Given the description of an element on the screen output the (x, y) to click on. 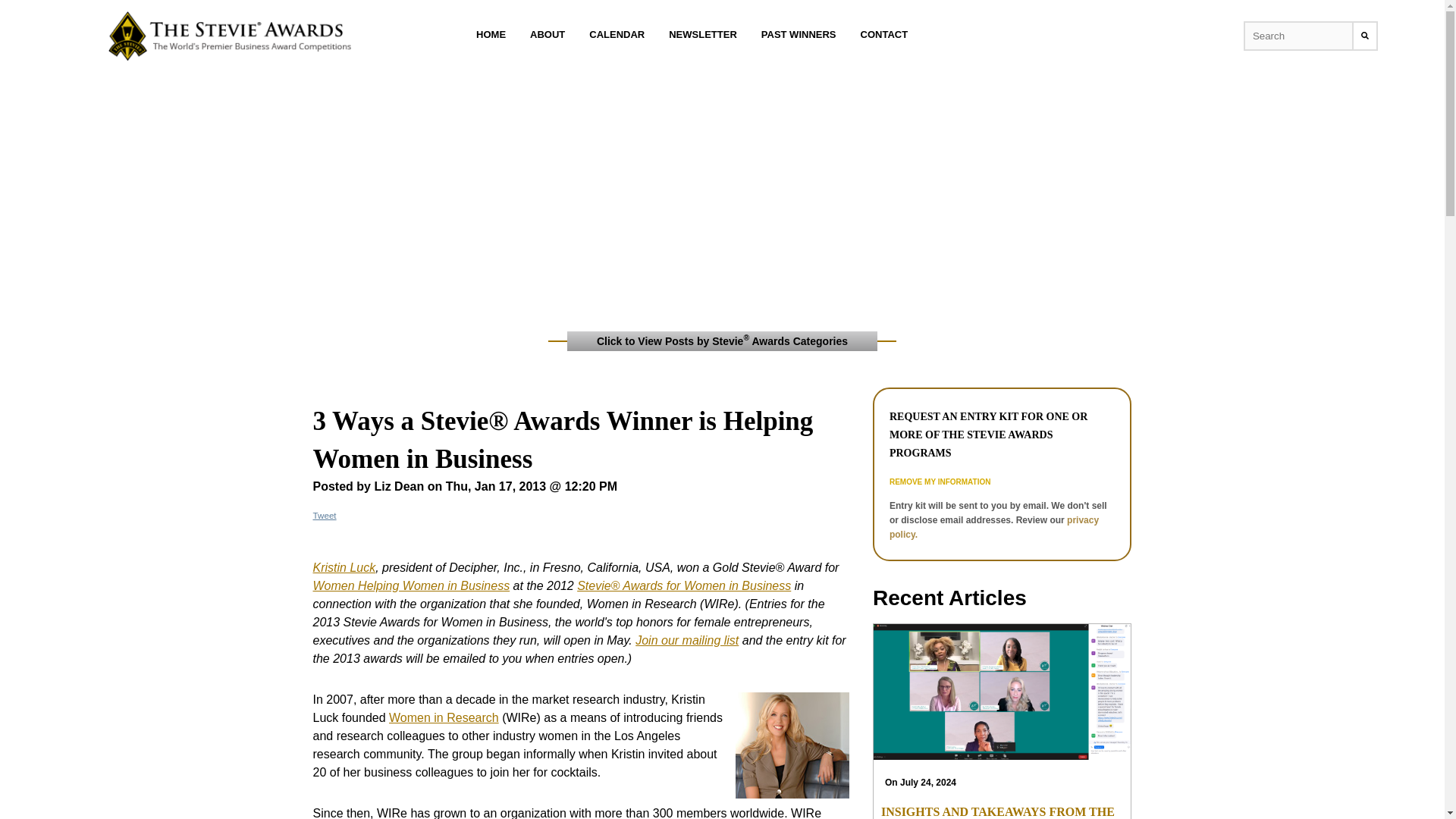
Tweet (324, 515)
Women in Research (443, 717)
HOME (490, 34)
Liz Dean (398, 486)
PAST WINNERS (798, 34)
CALENDAR (617, 34)
CONTACT (884, 34)
NEWSLETTER (703, 34)
Women Helping Women in Business (411, 585)
ABOUT (547, 34)
Join our mailing list (686, 640)
stevie-awards-full-logo (228, 35)
Kristin Luck (344, 567)
